Given the description of an element on the screen output the (x, y) to click on. 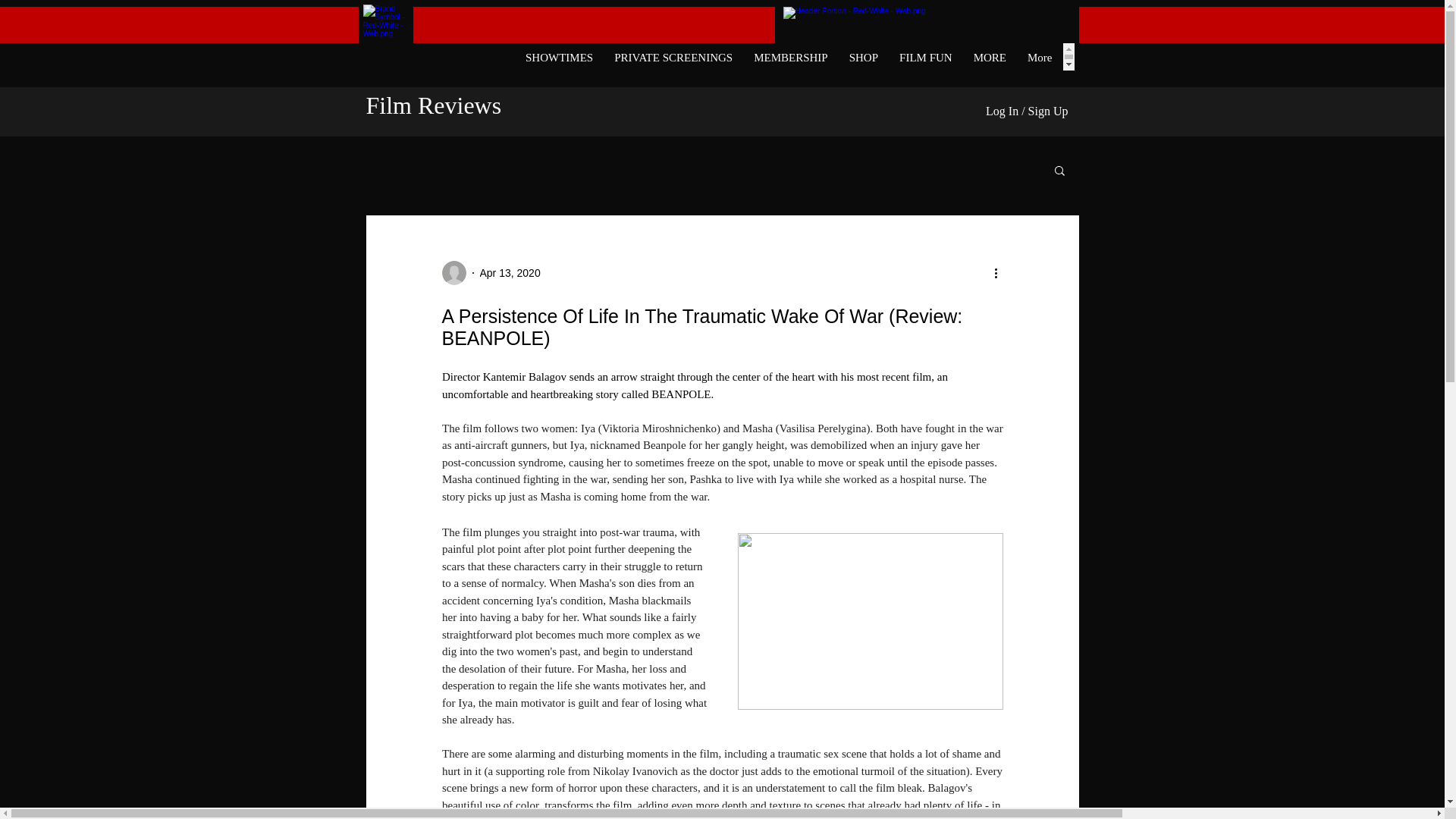
Apr 13, 2020 (509, 272)
MEMBERSHIP (790, 56)
SHOWTIMES (559, 56)
SHOP (863, 56)
PRIVATE SCREENINGS (673, 56)
